Given the description of an element on the screen output the (x, y) to click on. 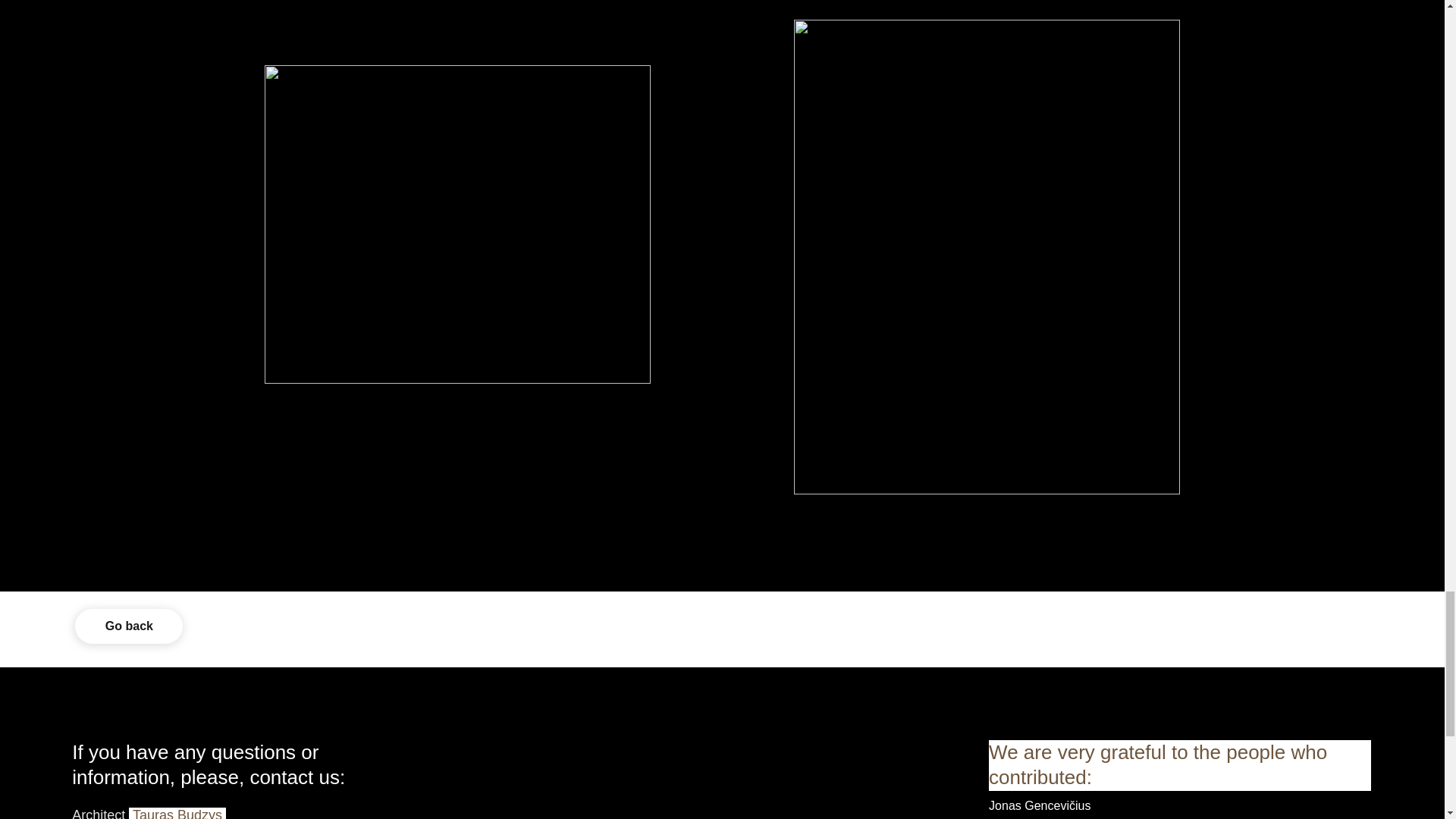
Go back (129, 626)
